Given the description of an element on the screen output the (x, y) to click on. 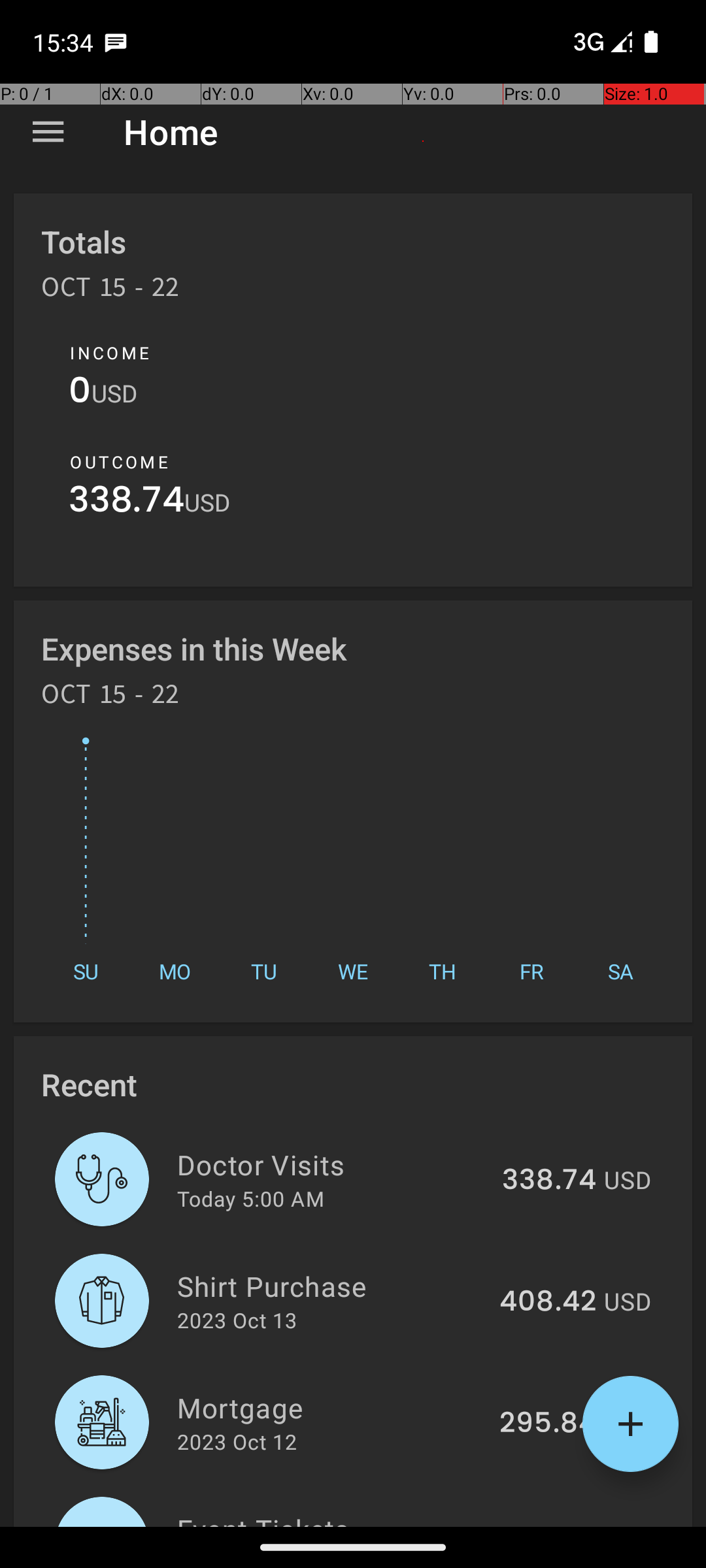
Totals Element type: android.widget.TextView (83, 240)
OCT 15 - 22 Element type: android.widget.TextView (110, 291)
INCOME Element type: android.widget.TextView (109, 352)
OUTCOME Element type: android.widget.TextView (118, 461)
338.74 Element type: android.widget.TextView (126, 502)
Expenses in this Week Element type: android.widget.TextView (194, 648)
Recent Element type: android.widget.TextView (89, 1083)
Doctor Visits Element type: android.widget.TextView (331, 1164)
Today 5:00 AM Element type: android.widget.TextView (250, 1198)
Shirt Purchase Element type: android.widget.TextView (330, 1285)
2023 Oct 13 Element type: android.widget.TextView (236, 1320)
408.42 Element type: android.widget.TextView (547, 1301)
Mortgage Element type: android.widget.TextView (330, 1407)
2023 Oct 12 Element type: android.widget.TextView (236, 1441)
295.84 Element type: android.widget.TextView (547, 1423)
Event Tickets Element type: android.widget.TextView (347, 1518)
50.6 Element type: android.widget.TextView (564, 1524)
